Given the description of an element on the screen output the (x, y) to click on. 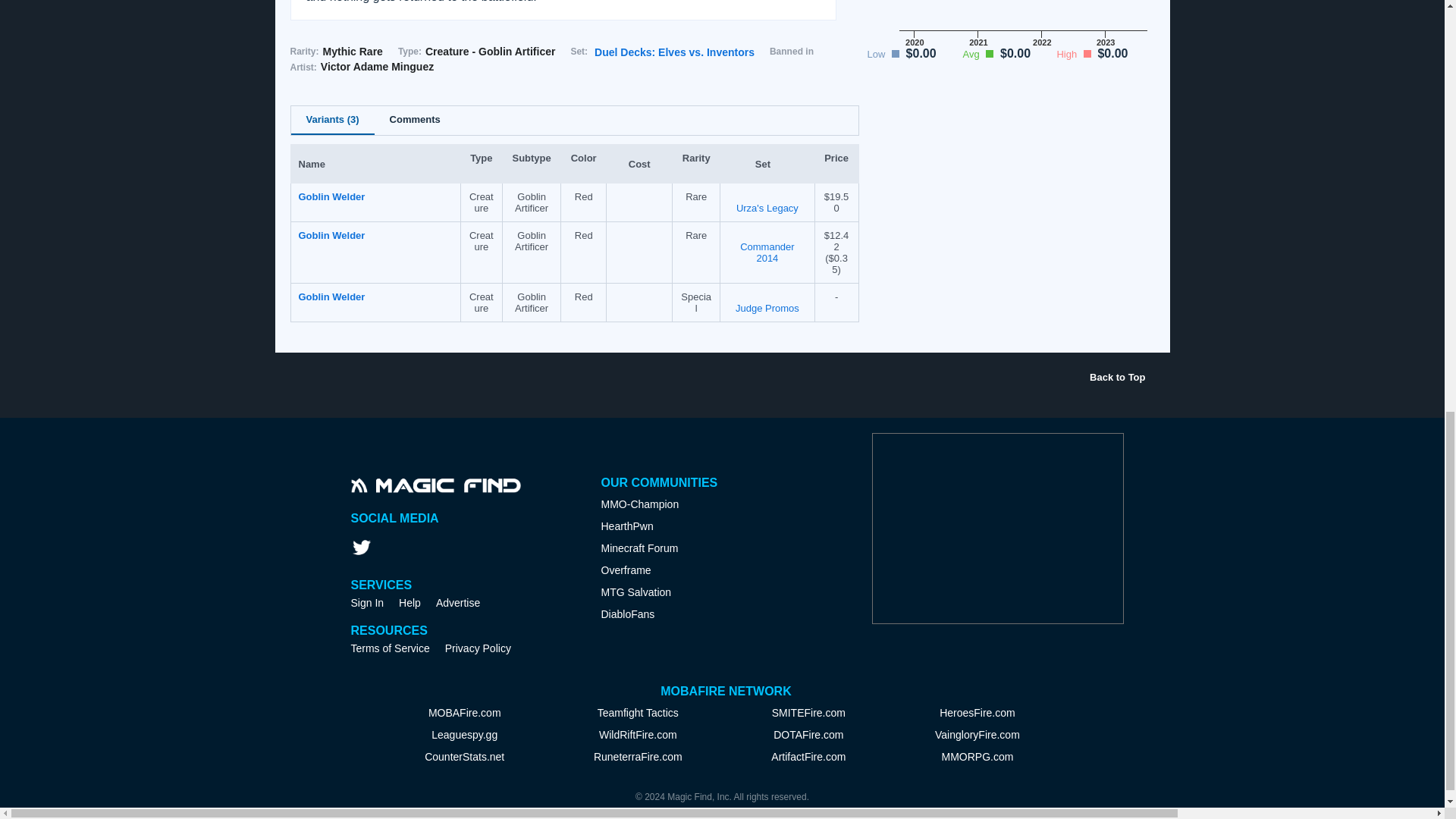
1 Red Mana (638, 194)
Duel Decks: Elves vs. Inventors (674, 51)
1 Red Mana (638, 234)
In Last 24 Hours (836, 263)
1 Red Mana (638, 295)
